Given the description of an element on the screen output the (x, y) to click on. 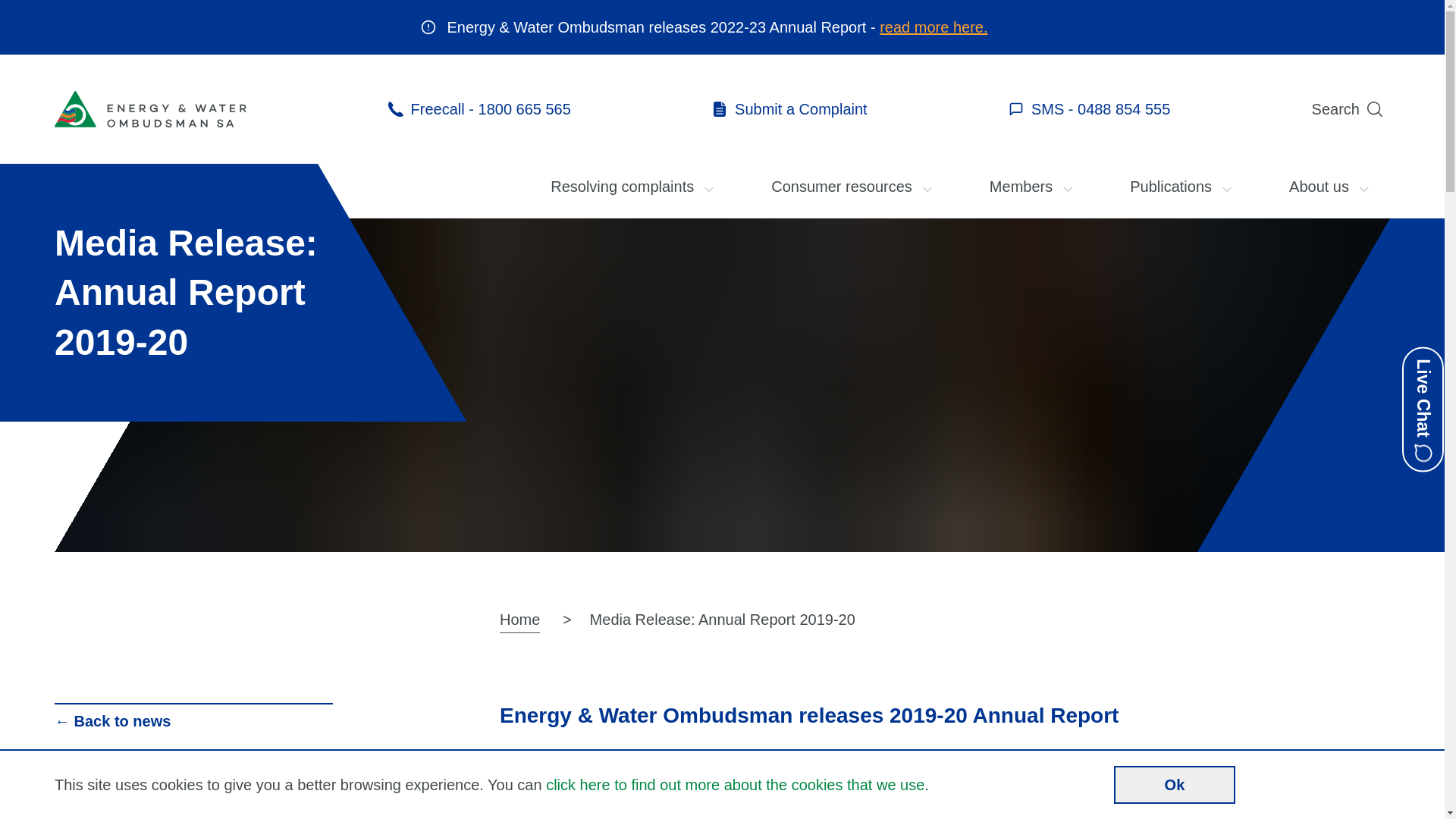
Submit a Complaint Element type: text (789, 109)
read more here. Element type: text (933, 26)
Live Chat Element type: text (1422, 409)
Home Element type: text (519, 619)
Resolving complaints Element type: text (633, 186)
Consumer resources Element type: text (853, 186)
About us Element type: text (1330, 186)
Members Element type: text (1032, 186)
Ok Element type: text (1174, 784)
Publications Element type: text (1181, 186)
Search Element type: text (1350, 109)
click here to find out more about the cookies that we use Element type: text (735, 784)
